Given the description of an element on the screen output the (x, y) to click on. 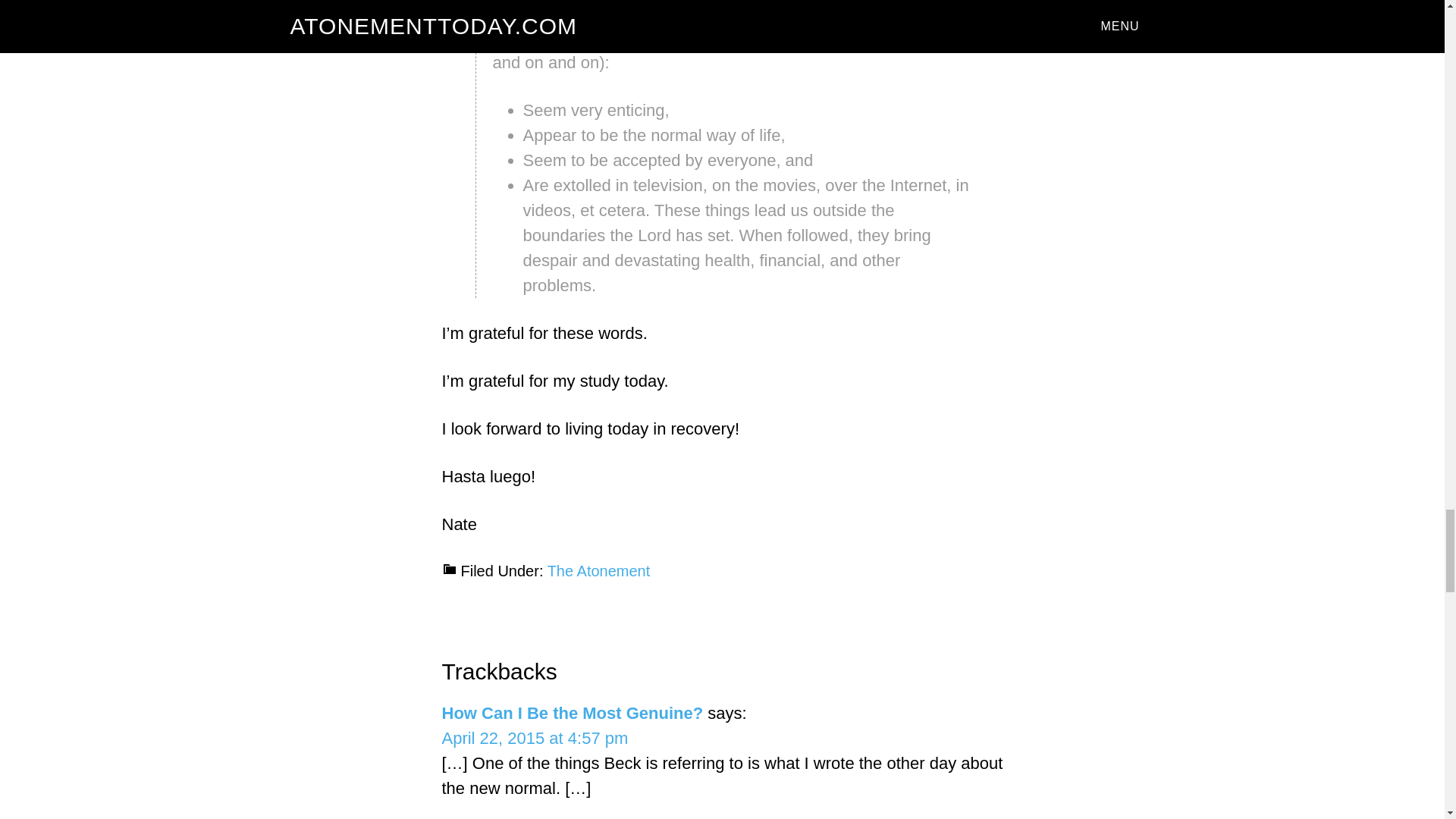
April 22, 2015 at 4:57 pm (534, 737)
How Can I Be the Most Genuine? (572, 712)
The Atonement (598, 570)
